Given the description of an element on the screen output the (x, y) to click on. 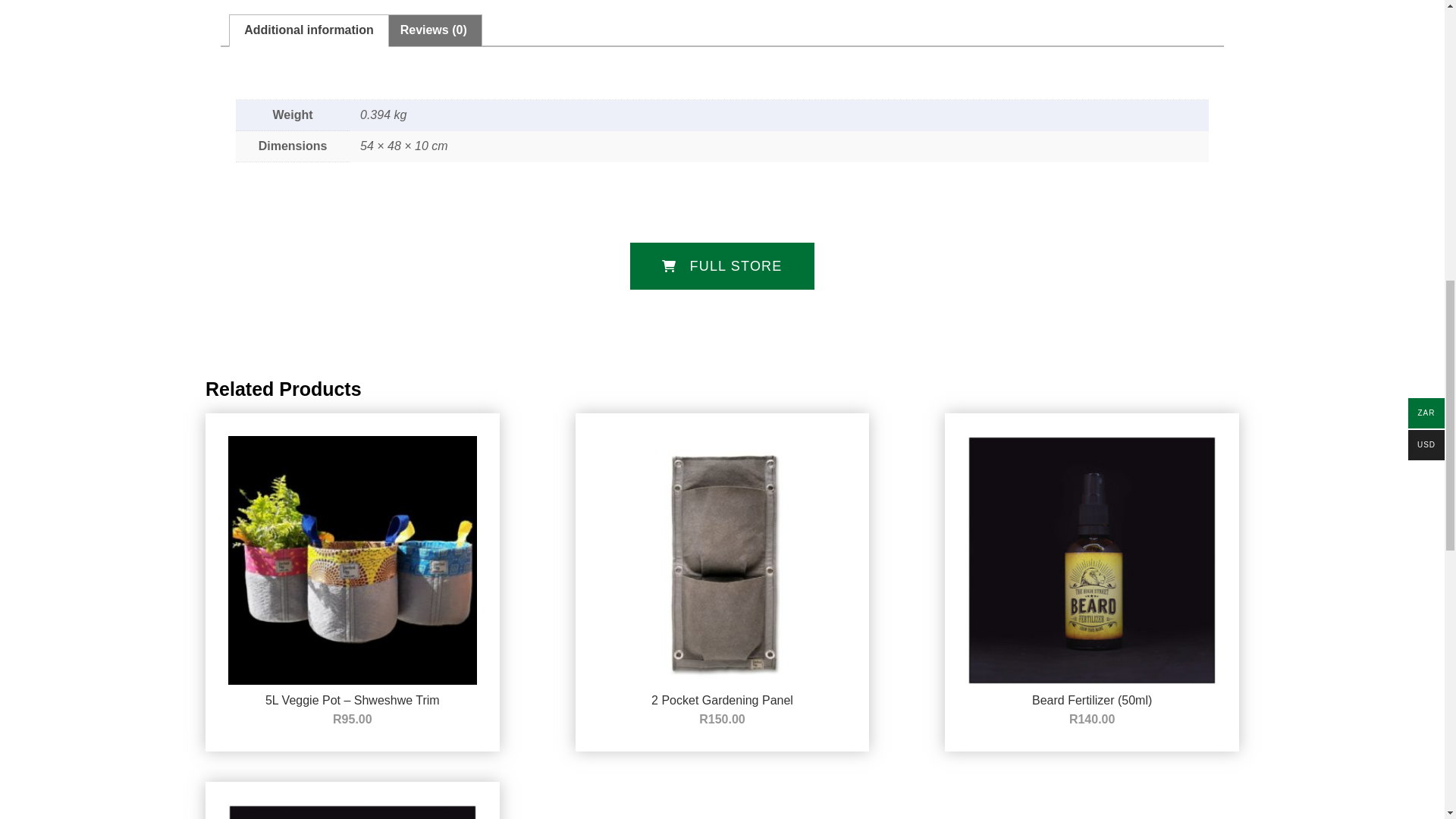
Additional information (309, 30)
FULL STORE (721, 265)
